Given the description of an element on the screen output the (x, y) to click on. 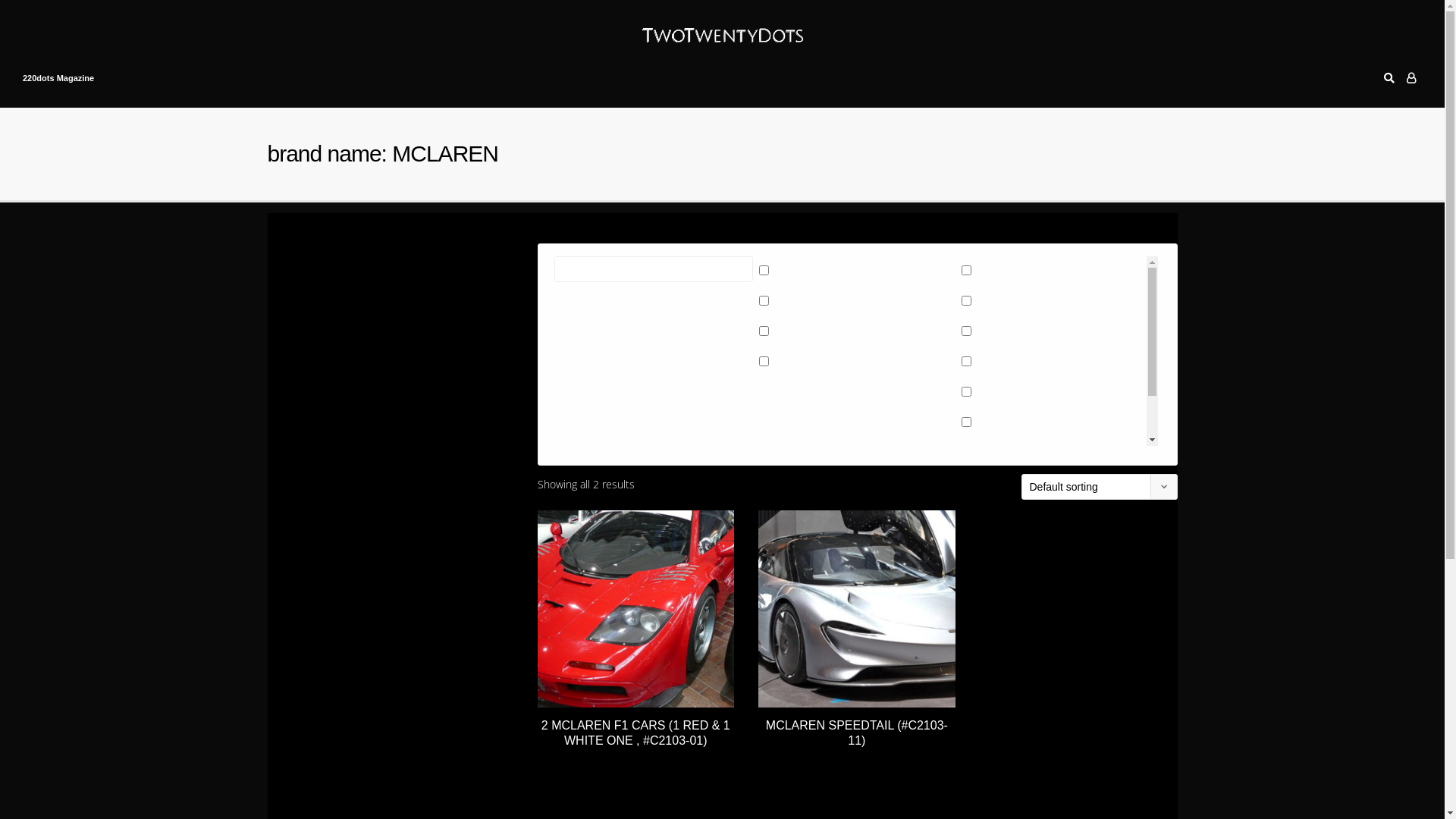
220dots Magazine Element type: text (58, 78)
MCLAREN SPEEDTAIL (#C2103-11) Element type: text (856, 629)
220dots.com Element type: hover (722, 29)
submit Element type: text (722, 323)
Login Element type: hover (1410, 78)
2 MCLAREN F1 CARS (1 RED & 1 WHITE ONE , #C2103-01) Element type: text (635, 629)
